Given the description of an element on the screen output the (x, y) to click on. 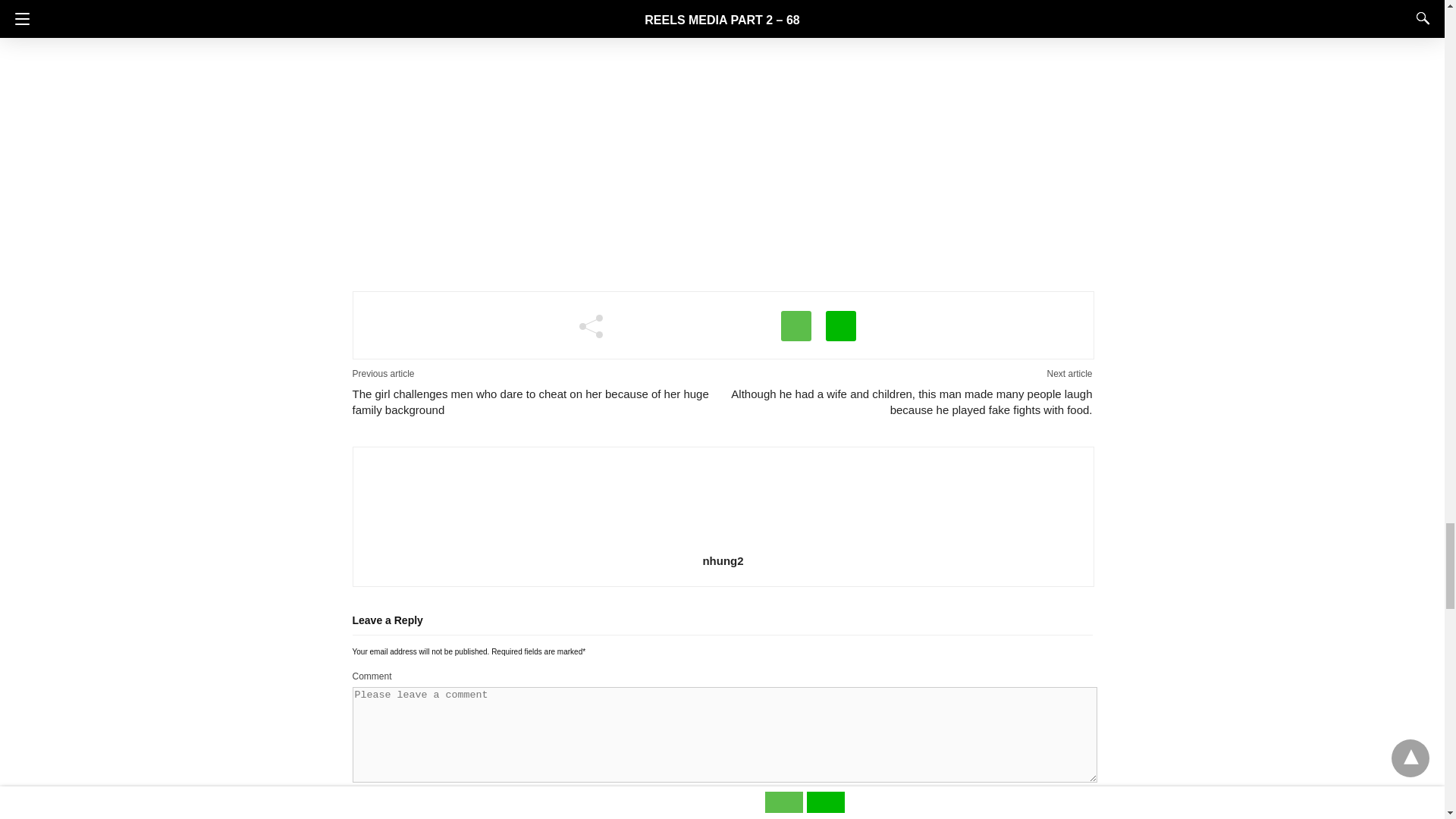
nhung2 (723, 560)
